Given the description of an element on the screen output the (x, y) to click on. 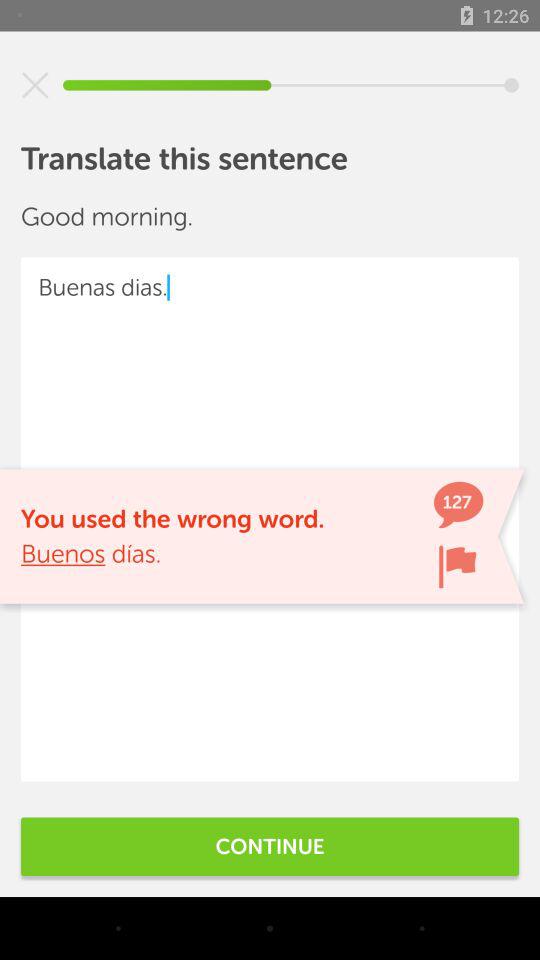
launch continue item (270, 846)
